Given the description of an element on the screen output the (x, y) to click on. 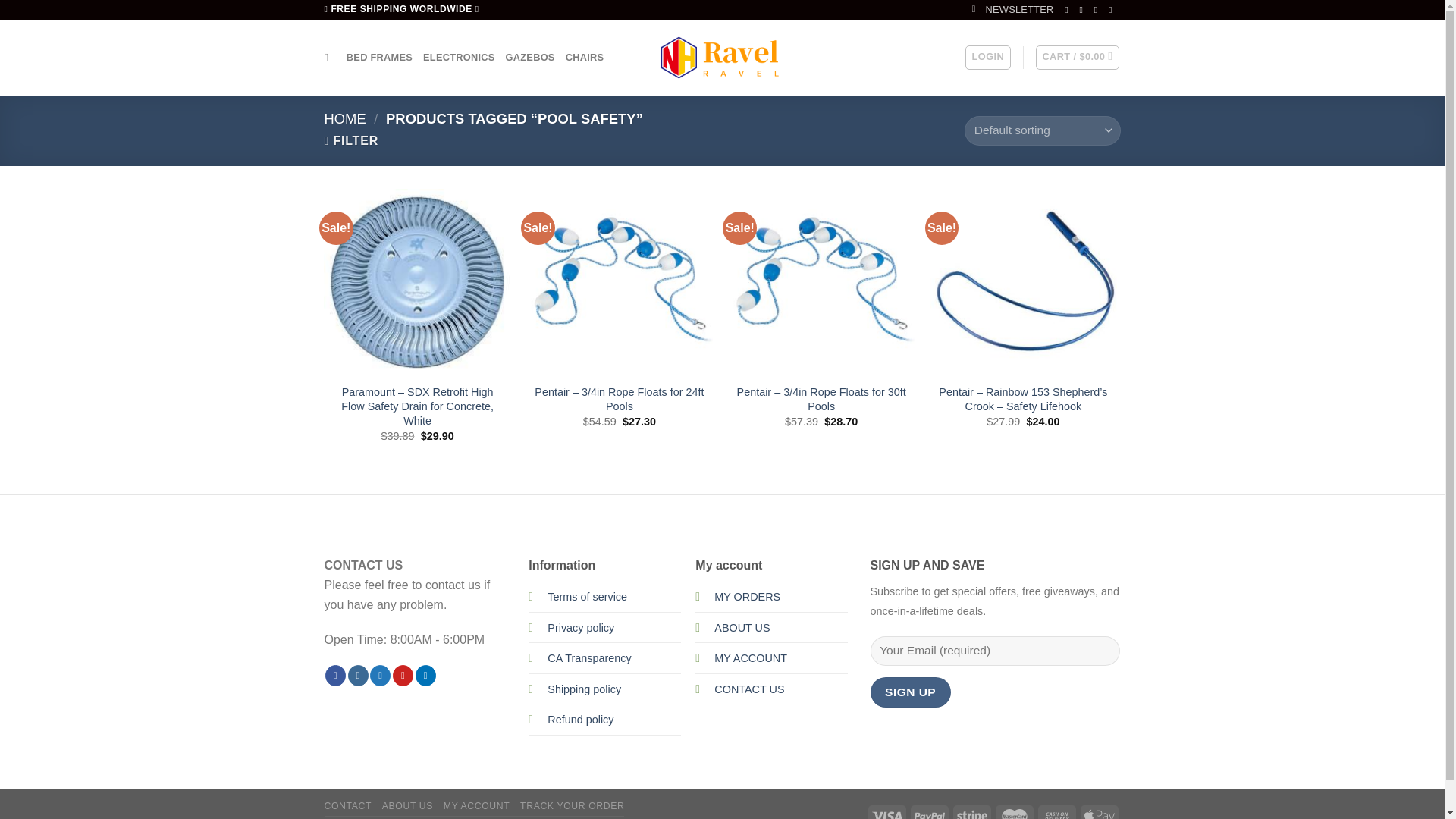
Follow on Twitter (379, 675)
Cart (1077, 57)
Follow on Instagram (357, 675)
CHAIRS (585, 57)
NEWSLETTER (1013, 9)
FILTER (351, 140)
BED FRAMES (379, 57)
HOME (345, 118)
Sign Up (910, 691)
LOGIN (987, 57)
